Given the description of an element on the screen output the (x, y) to click on. 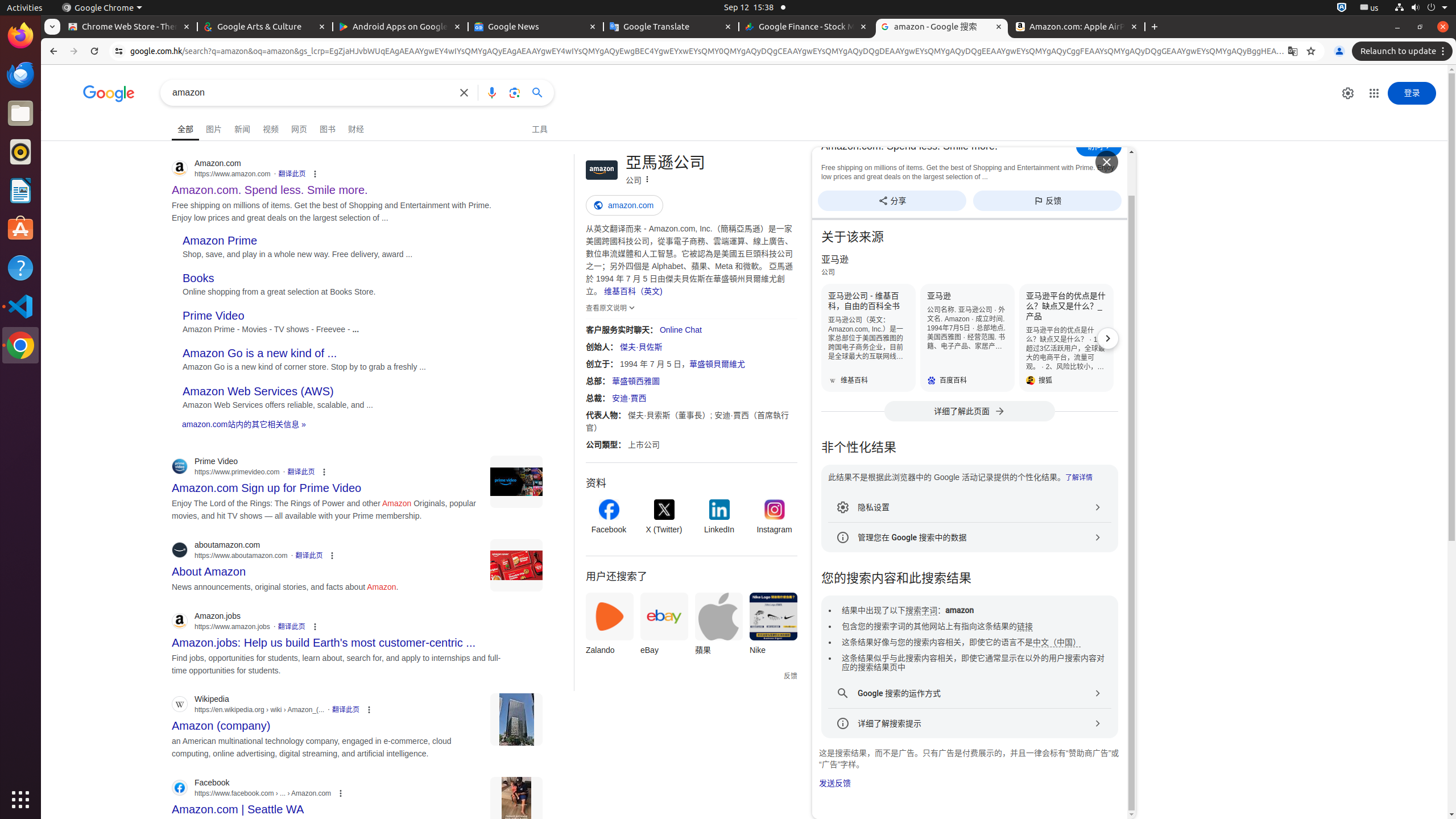
亚马逊 Element type: link (967, 337)
Google Arts & Culture - Memory usage - 57.6 MB Element type: page-tab (264, 26)
工具 Element type: push-button (539, 128)
System Element type: menu (1420, 7)
安迪·賈西 Element type: link (628, 397)
